Given the description of an element on the screen output the (x, y) to click on. 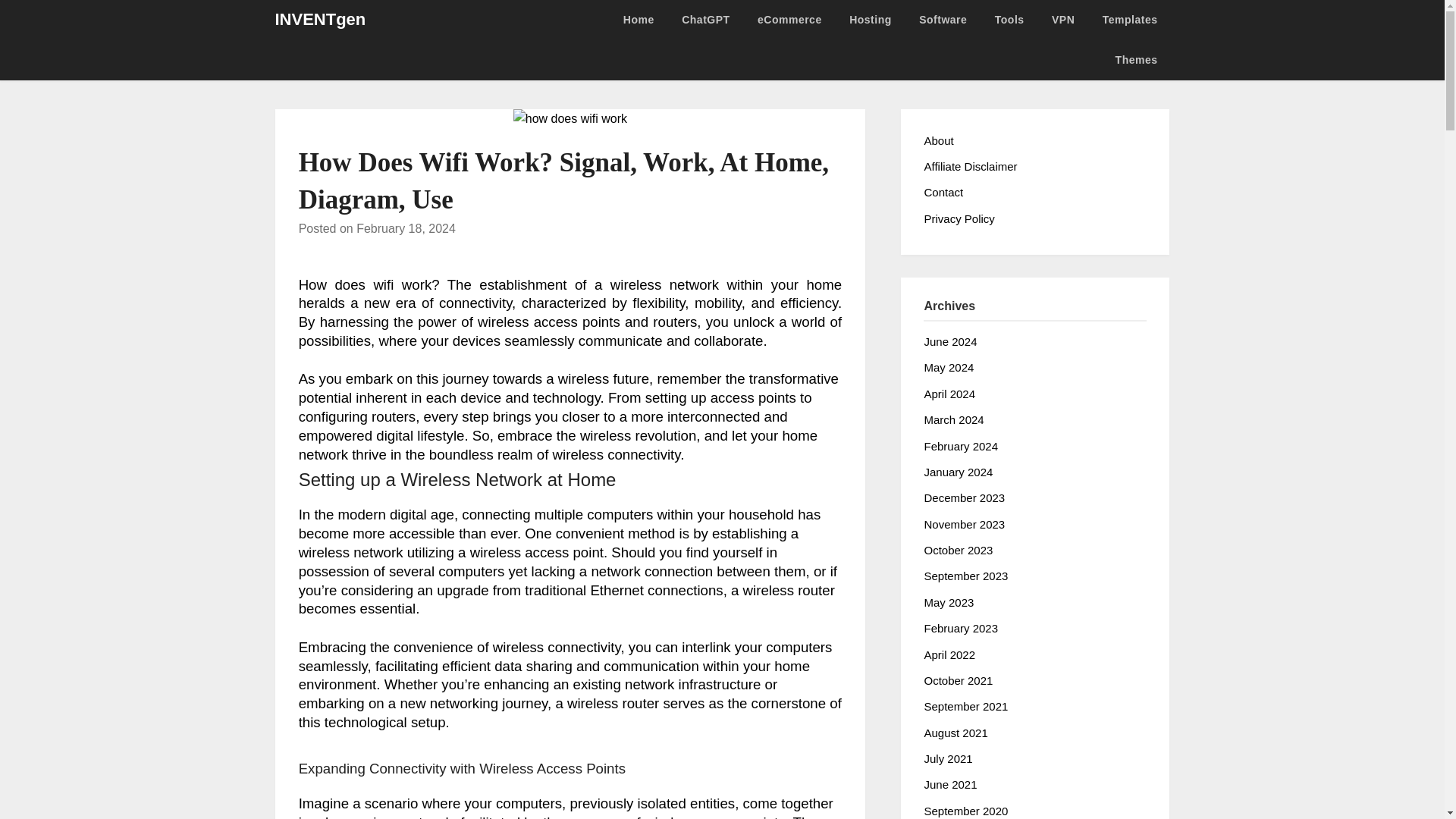
VPN (1062, 20)
Home (638, 20)
Hosting (870, 20)
Themes (1136, 60)
Templates (1130, 20)
February 18, 2024 (405, 227)
ChatGPT (705, 20)
Tools (1009, 20)
Software (942, 20)
eCommerce (789, 20)
INVENTgen (320, 19)
